Given the description of an element on the screen output the (x, y) to click on. 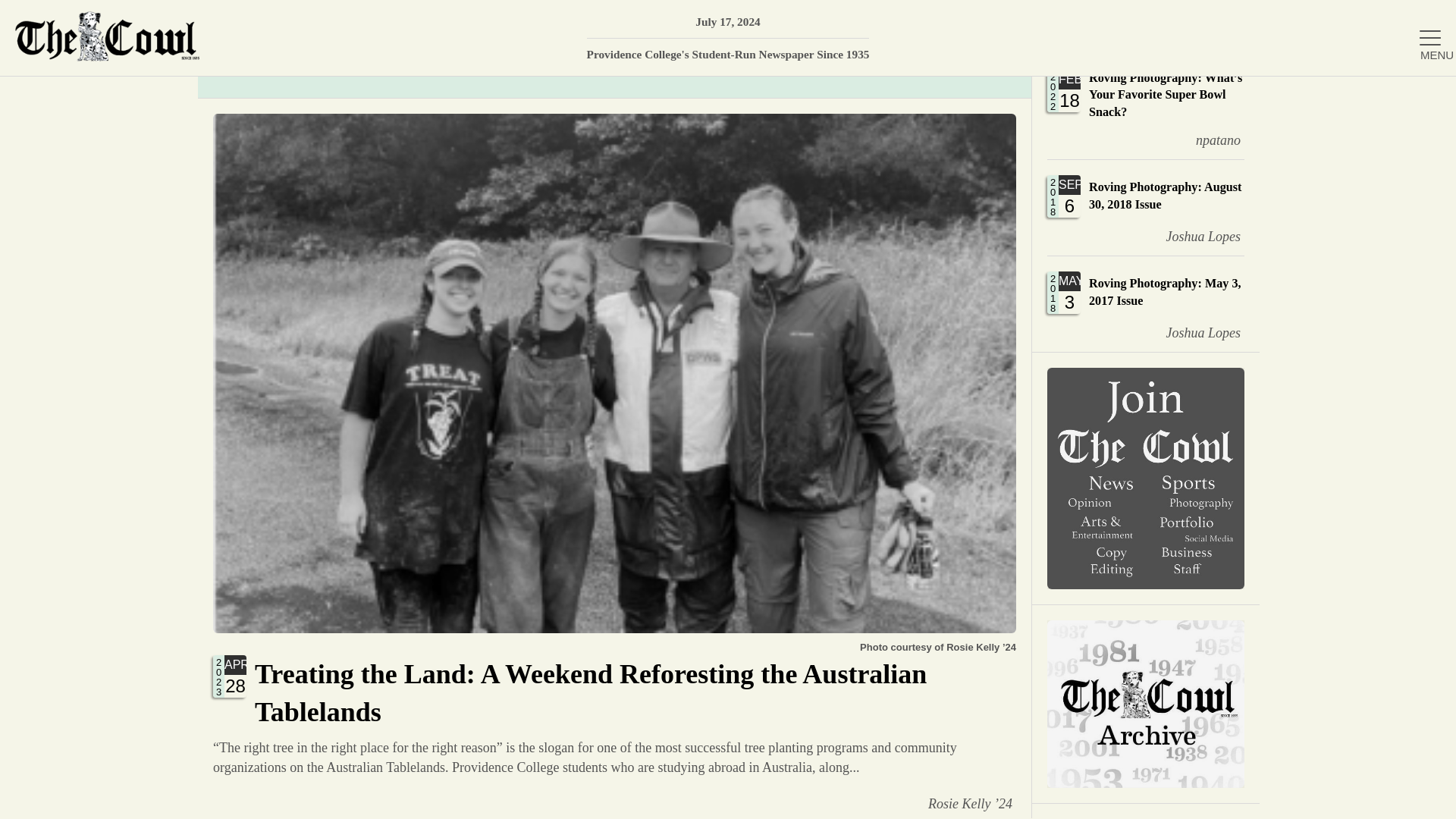
Search (1145, 304)
Joshua Lopes (1422, 19)
npatano (1145, 207)
Roving Photography: May 3, 2017 Issue (1191, 236)
About Us (1206, 139)
Opinion (1145, 304)
Home (1275, 124)
Portfolio (1275, 272)
Search (1275, 74)
Search (1275, 321)
Letters to the Editor (1422, 19)
Sports (1422, 19)
News (1275, 420)
